Given the description of an element on the screen output the (x, y) to click on. 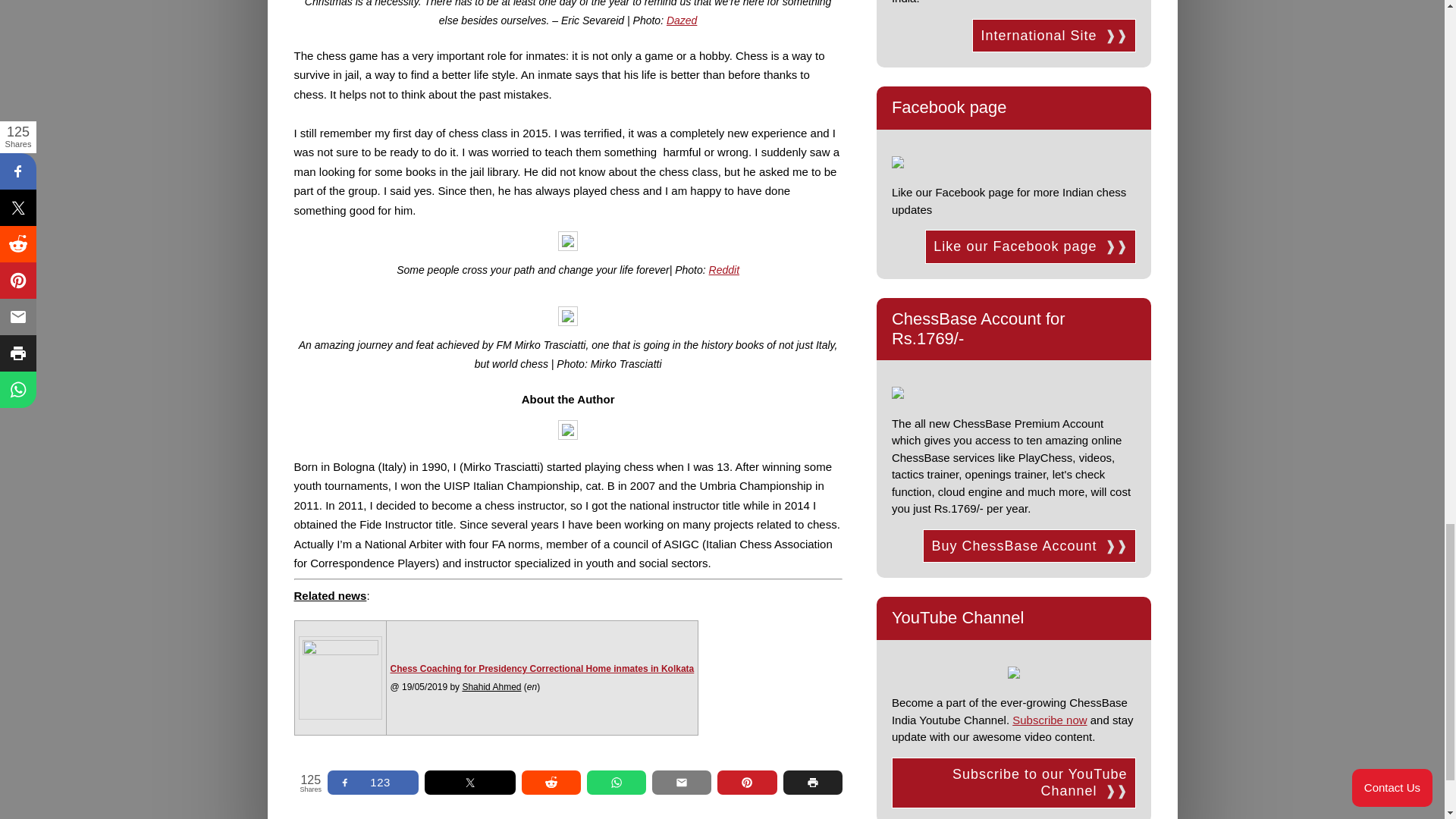
Reddit (724, 269)
Like our Facebook page (1029, 246)
Dazed (681, 20)
International Site (1053, 35)
Buy ChessBase Account (1029, 546)
Subscribe to our YouTube Channel (1013, 782)
Subscribe now (1048, 719)
